Given the description of an element on the screen output the (x, y) to click on. 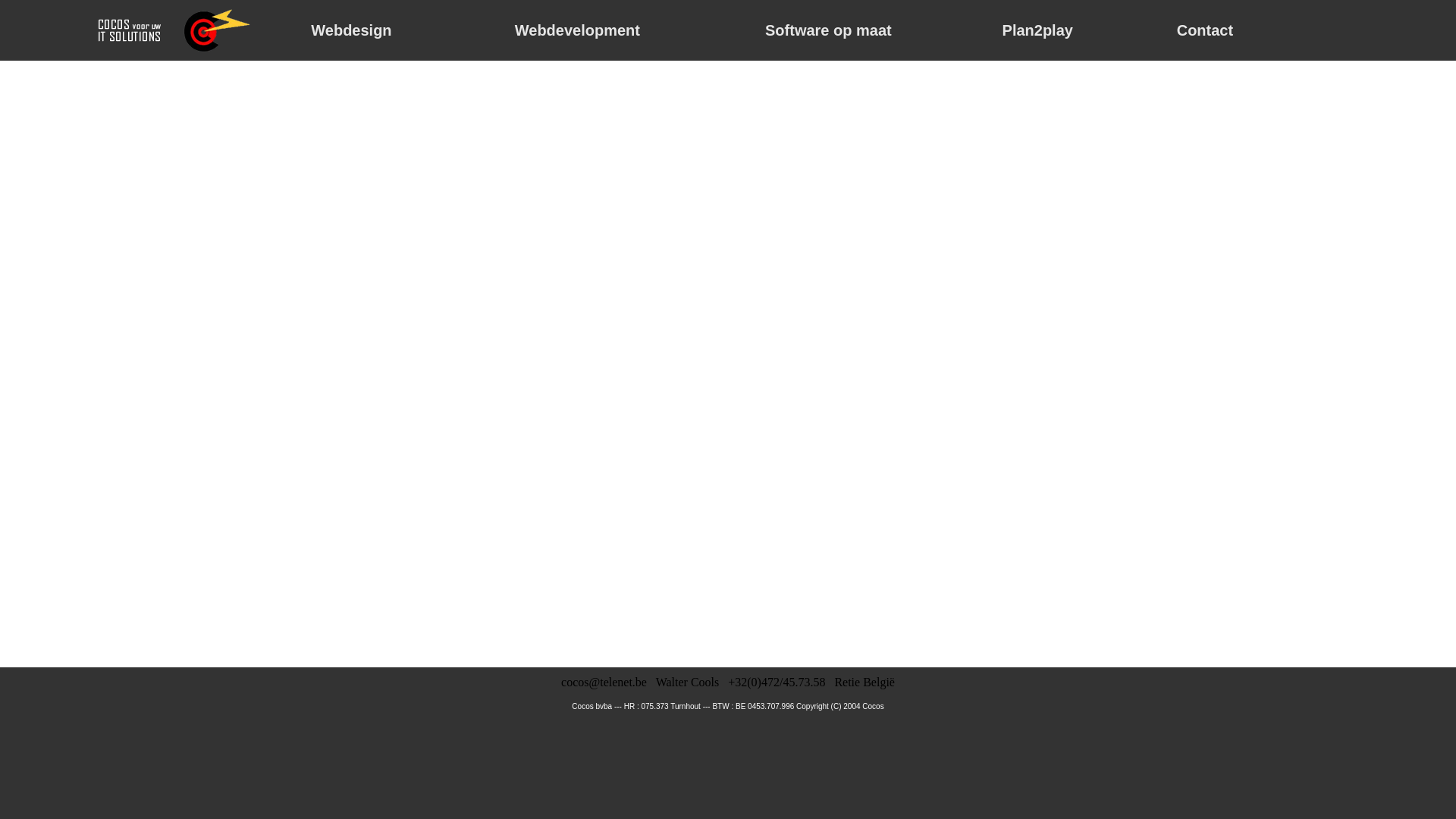
Software op maat Element type: text (827, 30)
Contact Element type: text (1205, 30)
Webdevelopment Element type: text (576, 30)
Plan2play Element type: text (1037, 30)
Webdesign Element type: text (351, 30)
